Given the description of an element on the screen output the (x, y) to click on. 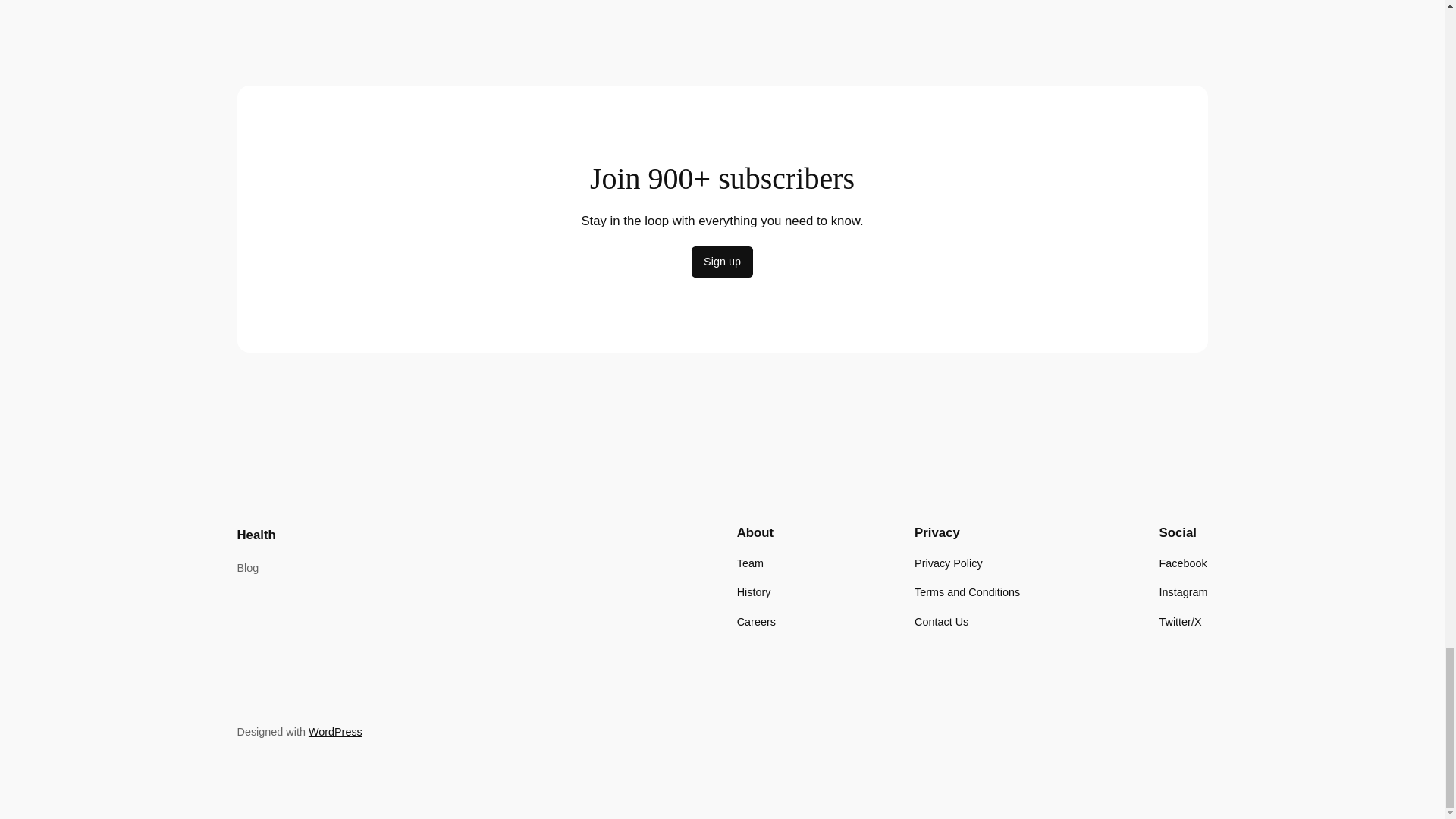
WordPress (335, 731)
Terms and Conditions (967, 591)
Sign up (721, 262)
Privacy Policy (948, 563)
Careers (756, 620)
Team (749, 563)
Instagram (1182, 591)
Contact Us (941, 620)
History (753, 591)
Health (255, 534)
Facebook (1182, 563)
